Given the description of an element on the screen output the (x, y) to click on. 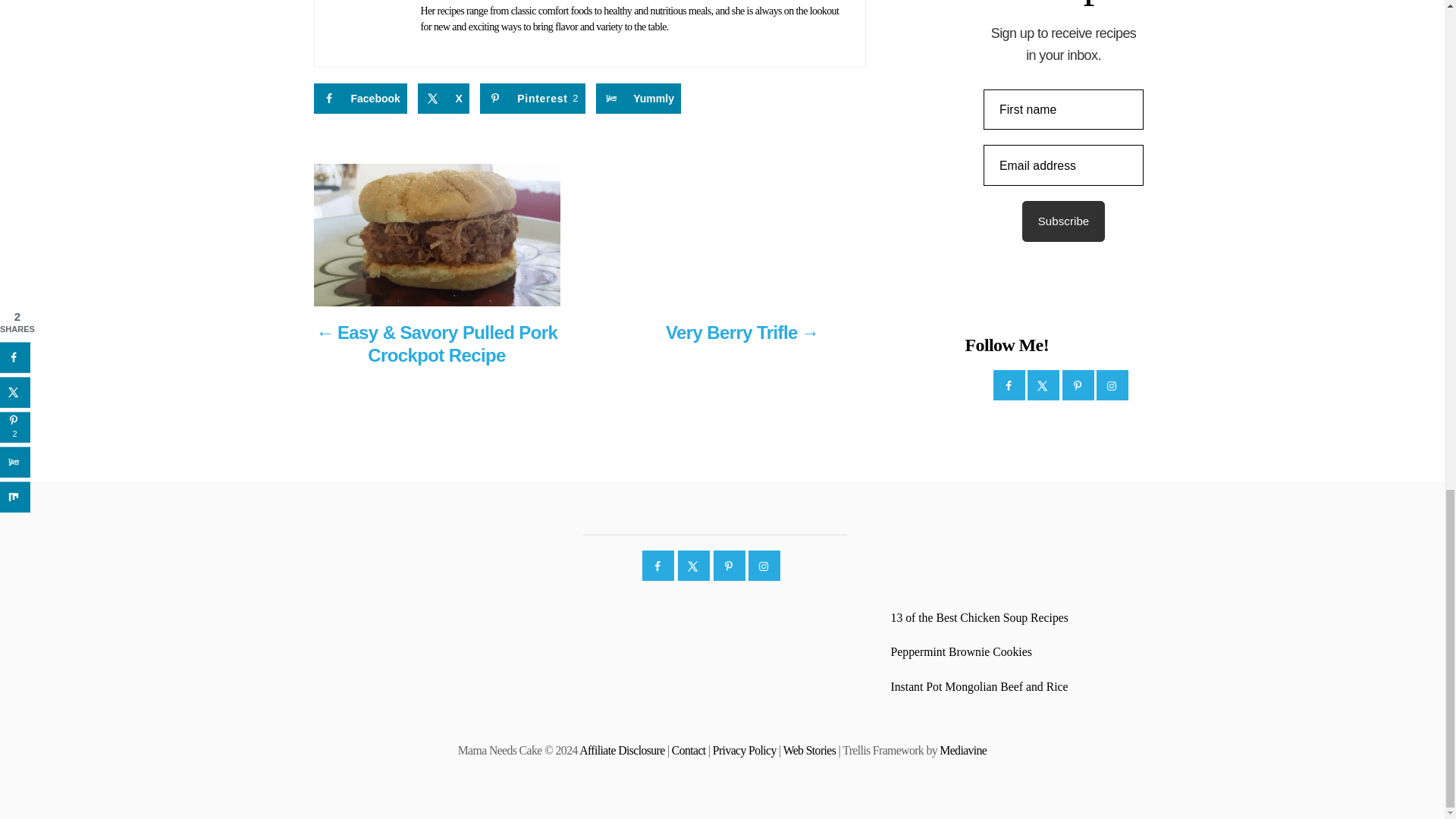
Save to Pinterest (532, 98)
Share on X (442, 98)
X (442, 98)
Share on Yummly (638, 98)
Follow on Pinterest (1077, 385)
Very Berry Trifle (741, 340)
Yummly (638, 98)
Facebook (360, 98)
Follow on X (1044, 385)
Share on Facebook (360, 98)
